Given the description of an element on the screen output the (x, y) to click on. 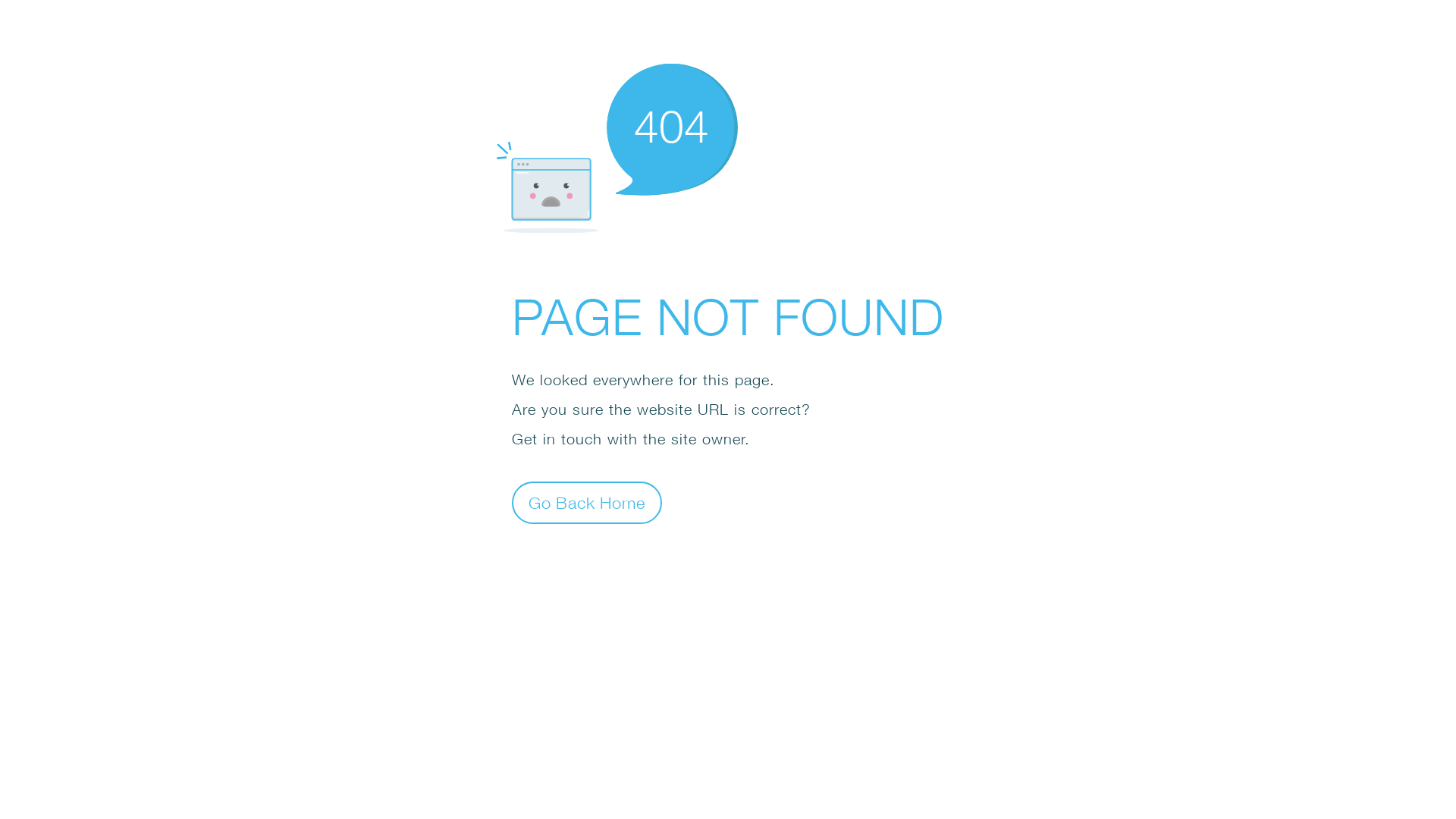
Go Back Home Element type: text (586, 502)
